Given the description of an element on the screen output the (x, y) to click on. 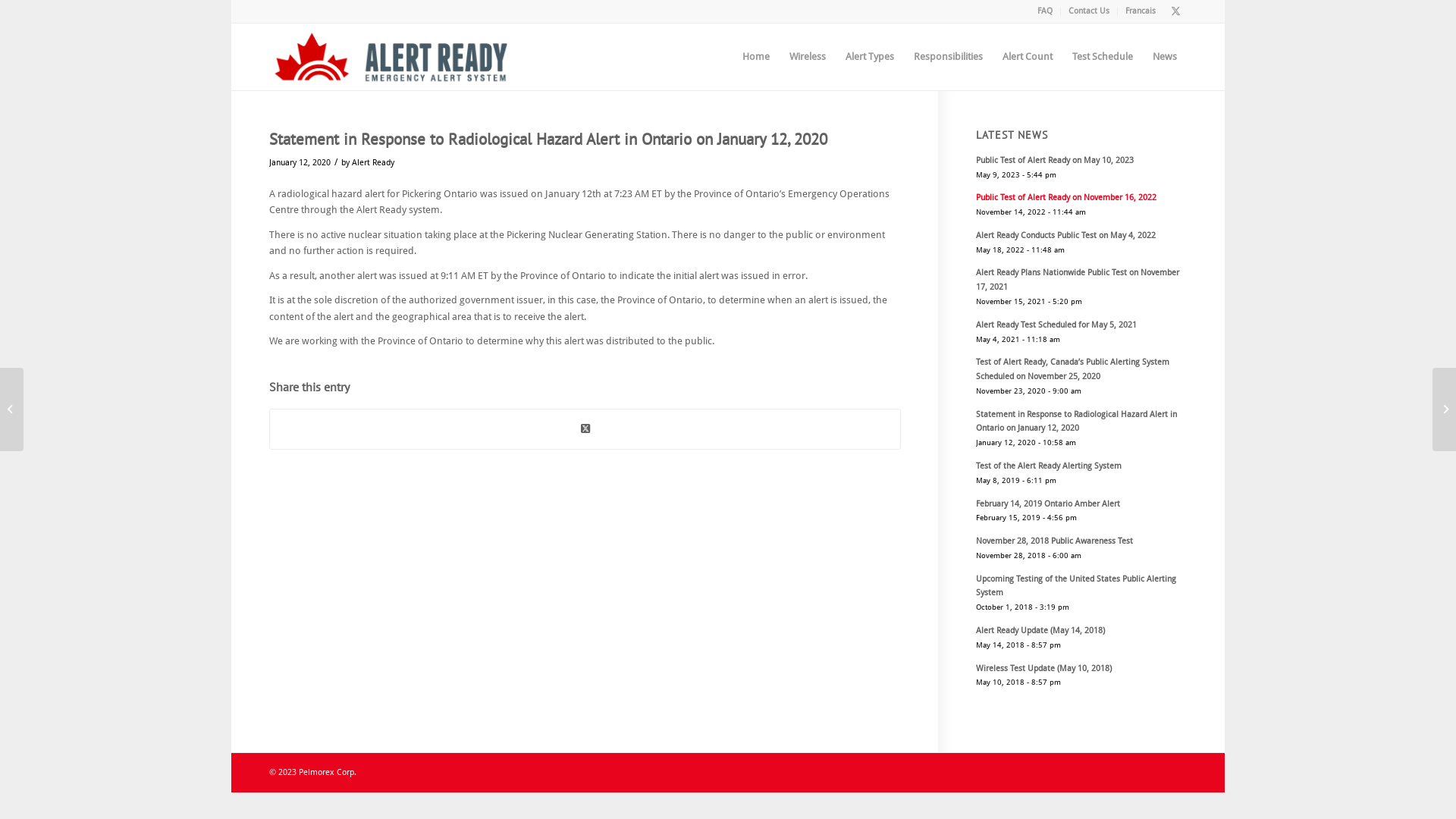
Home Element type: text (755, 56)
Public Test of Alert Ready on May 10, 2023 Element type: text (1054, 160)
Test Schedule Element type: text (1102, 56)
Wireless Element type: text (807, 56)
November 28, 2018 Public Awareness Test Element type: text (1053, 541)
News Element type: text (1164, 56)
Twitter Element type: hover (1175, 11)
February 14, 2019 Ontario Amber Alert Element type: text (1047, 503)
Alert Ready Test Scheduled for May 5, 2021 Element type: text (1055, 324)
Wireless Test Update (May 10, 2018) Element type: text (1043, 668)
Francais Element type: text (1140, 10)
Contact Us Element type: text (1088, 10)
FAQ Element type: text (1044, 10)
Alert Ready Main Element type: hover (390, 56)
Upcoming Testing of the United States Public Alerting System Element type: text (1075, 586)
Alert Ready Element type: text (372, 162)
Alert Types Element type: text (869, 56)
Alert Ready Conducts Public Test on May 4, 2022 Element type: text (1065, 235)
Test of the Alert Ready Alerting System Element type: text (1048, 465)
Public Test of Alert Ready on November 16, 2022 Element type: text (1065, 197)
Alert Ready Update (May 14, 2018) Element type: text (1039, 630)
Responsibilities Element type: text (947, 56)
Alert Count Element type: text (1027, 56)
